Given the description of an element on the screen output the (x, y) to click on. 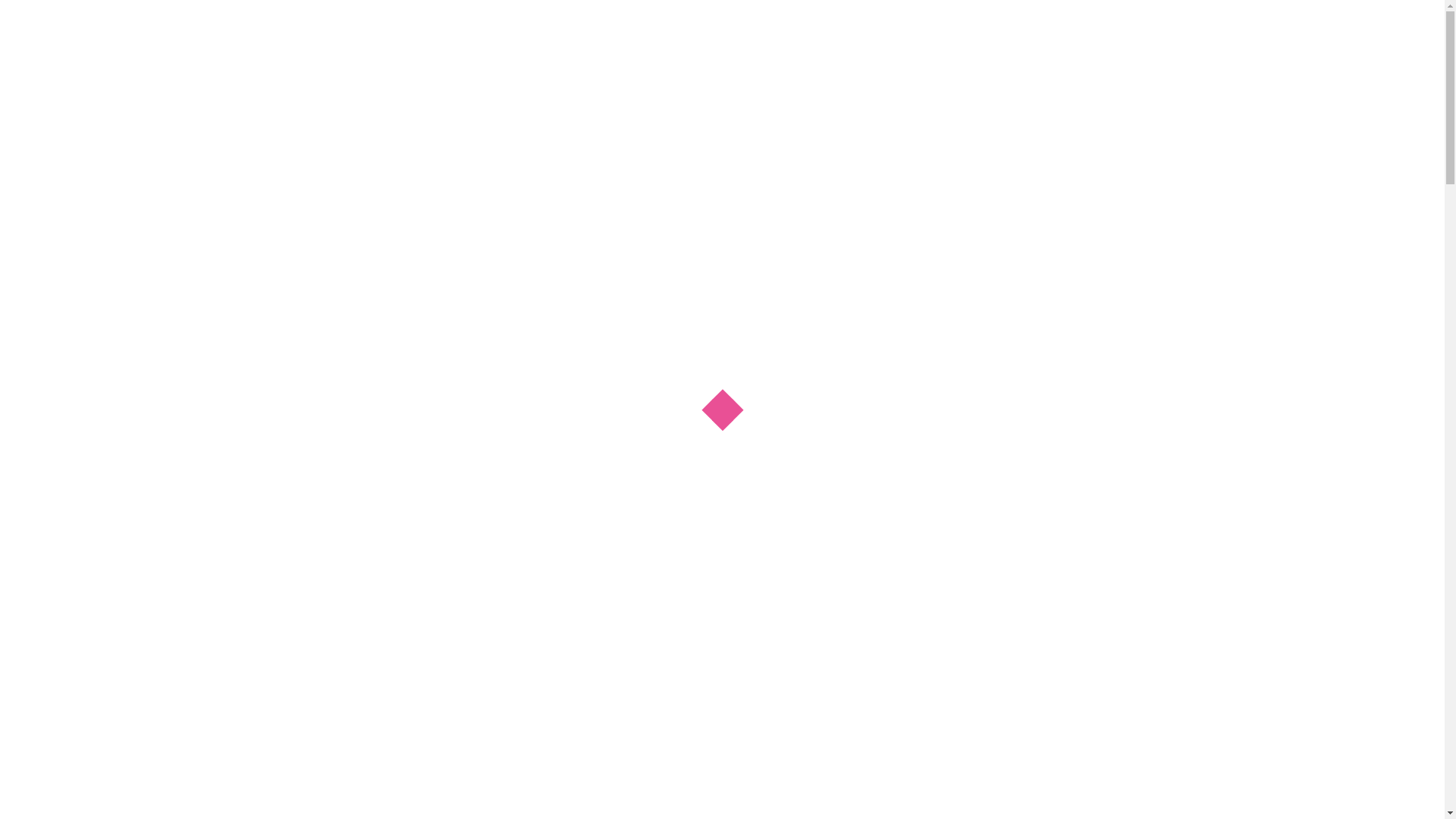
604 89 97 Element type: text (1058, 67)
info@domsabo.by Element type: text (1160, 101)
+375 33 604 89 97 Element type: text (1209, 14)
